Given the description of an element on the screen output the (x, y) to click on. 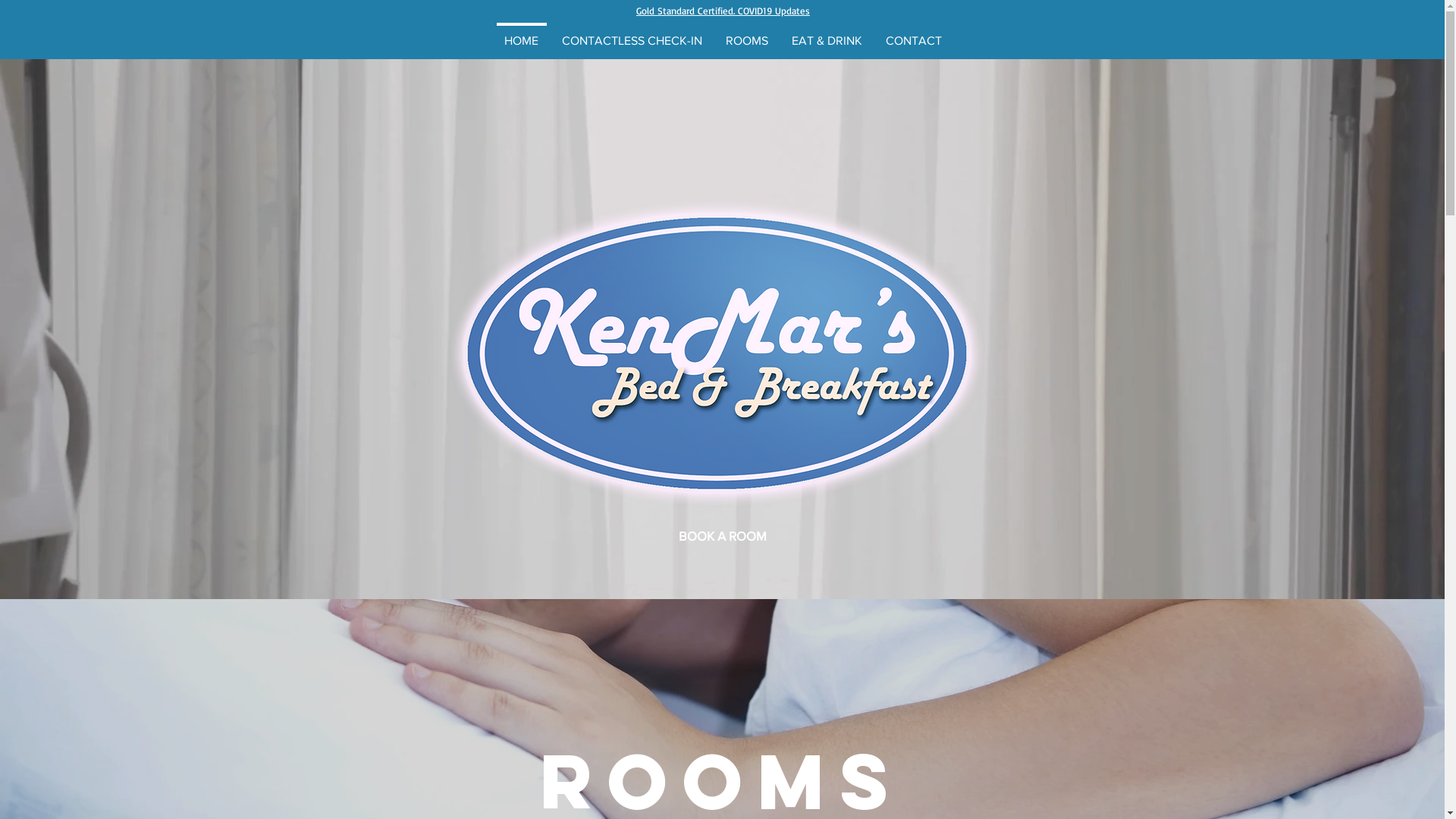
CONTACTLESS CHECK-IN Element type: text (632, 33)
HOME Element type: text (521, 33)
BOOK A ROOM Element type: text (722, 535)
ROOMS Element type: text (747, 33)
CONTACT Element type: text (912, 33)
EAT & DRINK Element type: text (826, 33)
Gold Standard Certified. COVID19 Updates Element type: text (722, 12)
